Given the description of an element on the screen output the (x, y) to click on. 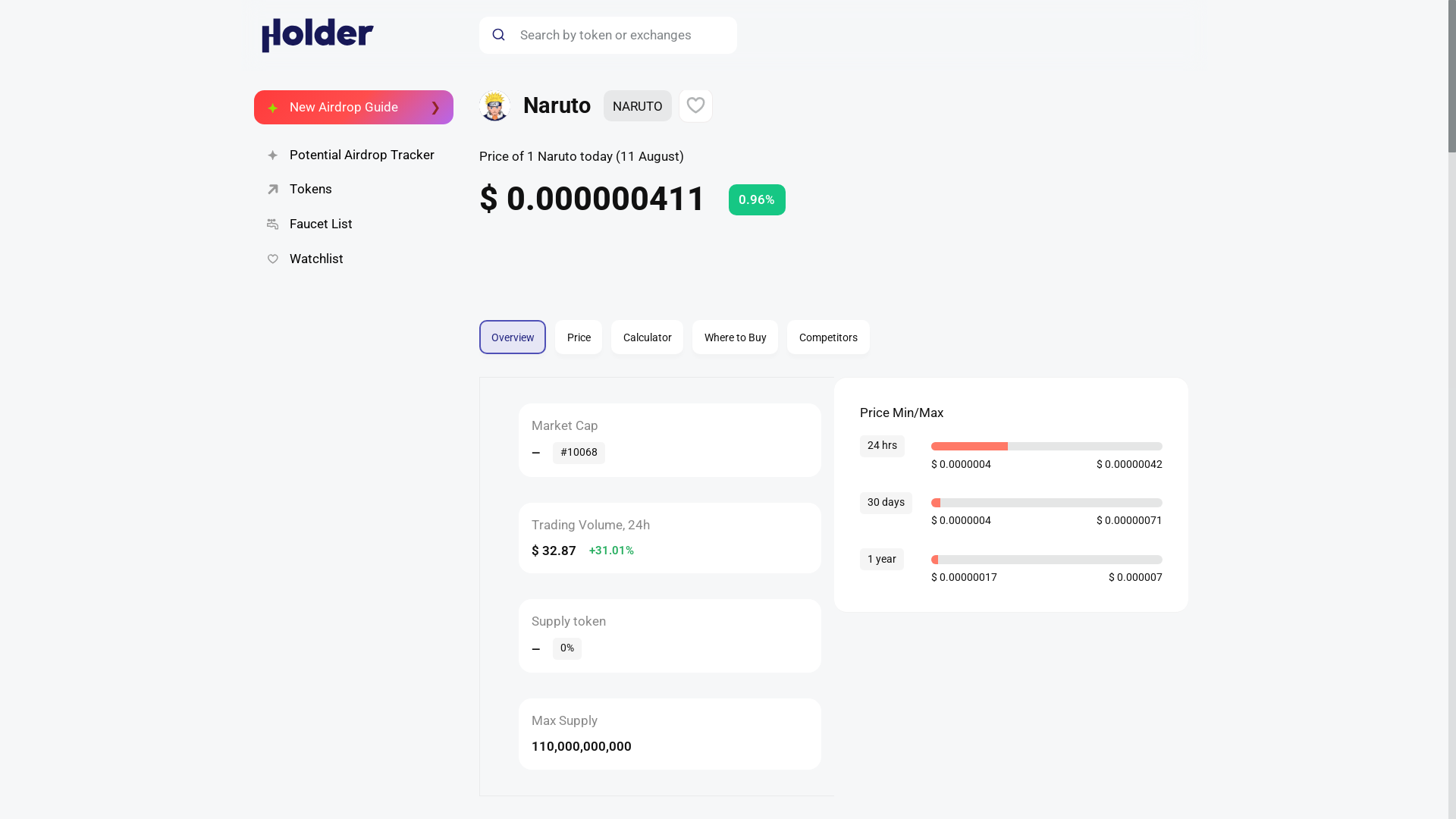
Overview (512, 336)
Competitors (828, 336)
Calculator (646, 336)
New Airdrop Guide (352, 106)
Where to Buy (735, 336)
Faucet List (352, 224)
Watchlist (833, 336)
naruto-vip.com (352, 258)
Change in the last 24 hours (533, 328)
